Given the description of an element on the screen output the (x, y) to click on. 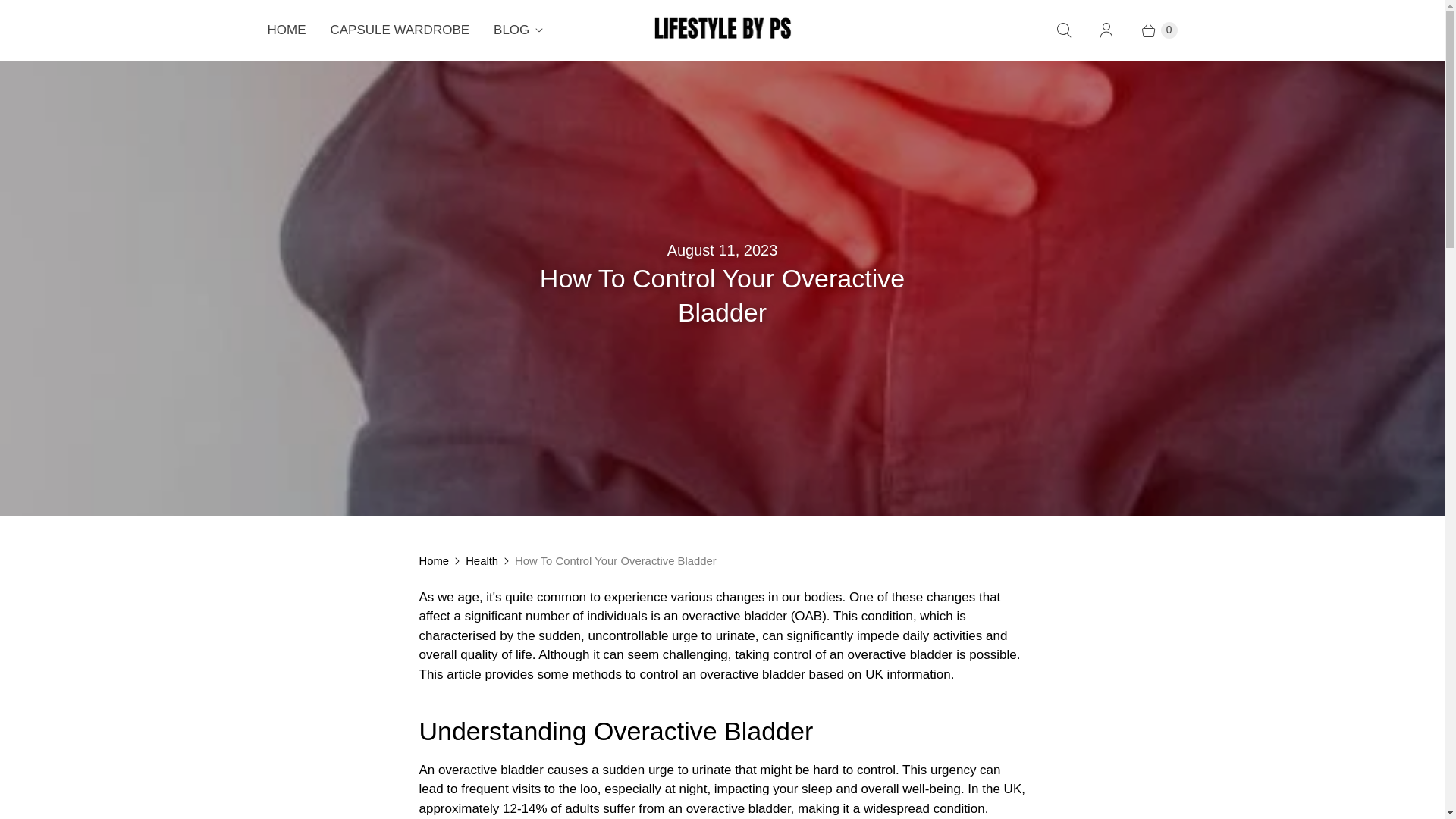
CAPSULE WARDROBE (399, 30)
0 (1151, 30)
Home (433, 560)
HOME (285, 30)
Health (481, 560)
